Given the description of an element on the screen output the (x, y) to click on. 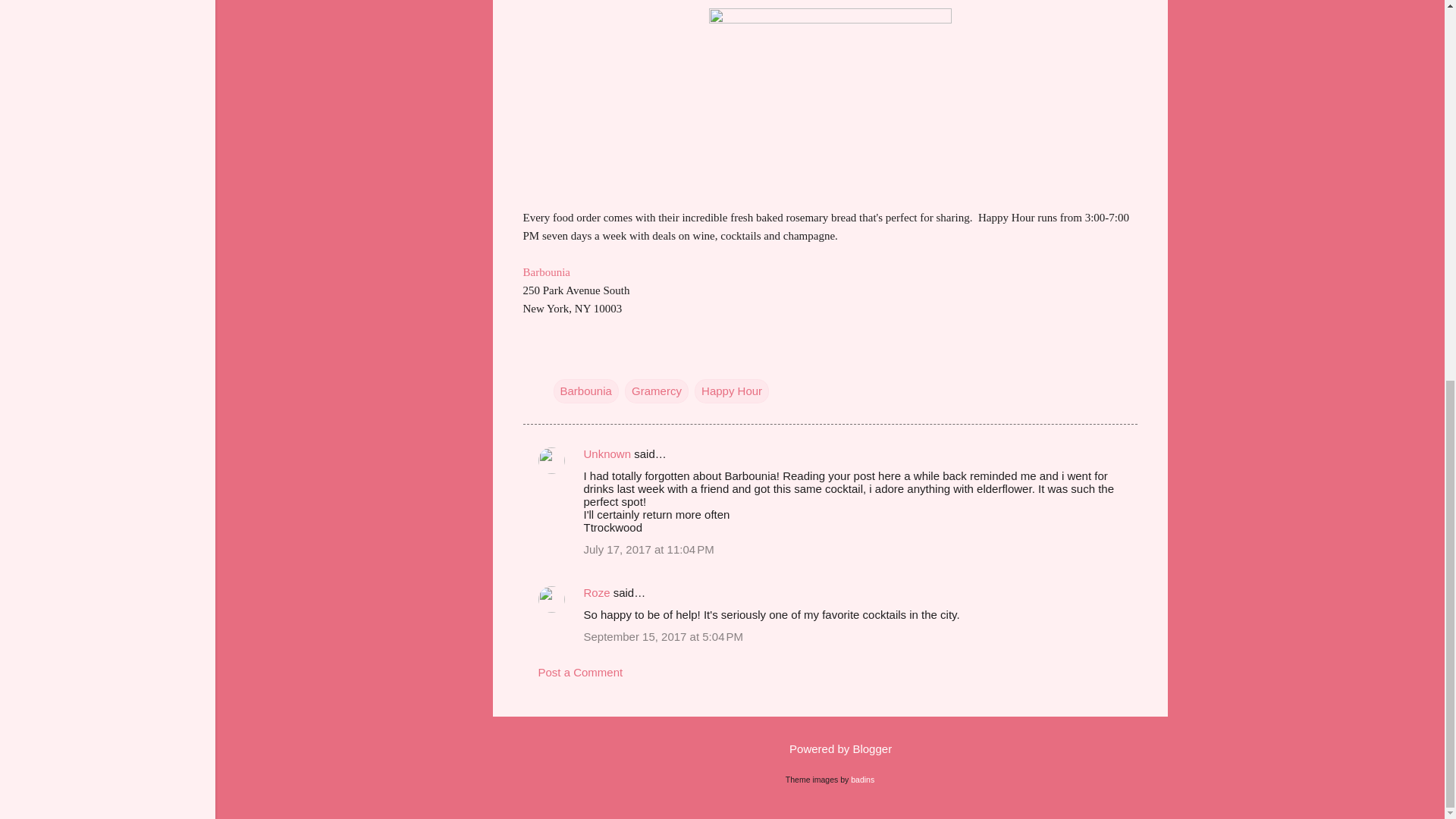
Powered by Blogger (829, 748)
Barbounia (546, 271)
Roze (596, 592)
Gramercy (656, 391)
Email Post (562, 359)
Barbounia (585, 391)
Happy Hour (731, 391)
badins (862, 778)
